Given the description of an element on the screen output the (x, y) to click on. 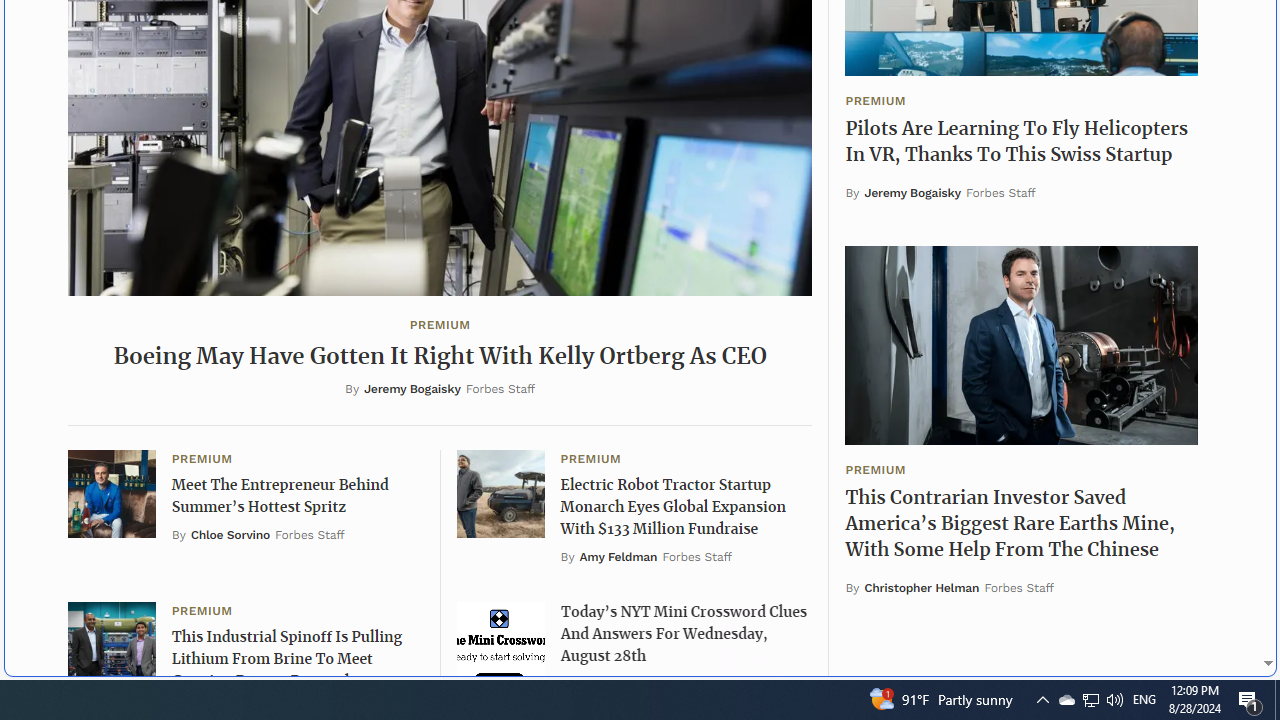
Amy Feldman (617, 556)
Christopher Helman (922, 587)
Jeremy Bogaisky (913, 193)
Chloe Sorvino (230, 535)
Boeing May Have Gotten It Right With Kelly Ortberg As CEO (439, 357)
